Given the description of an element on the screen output the (x, y) to click on. 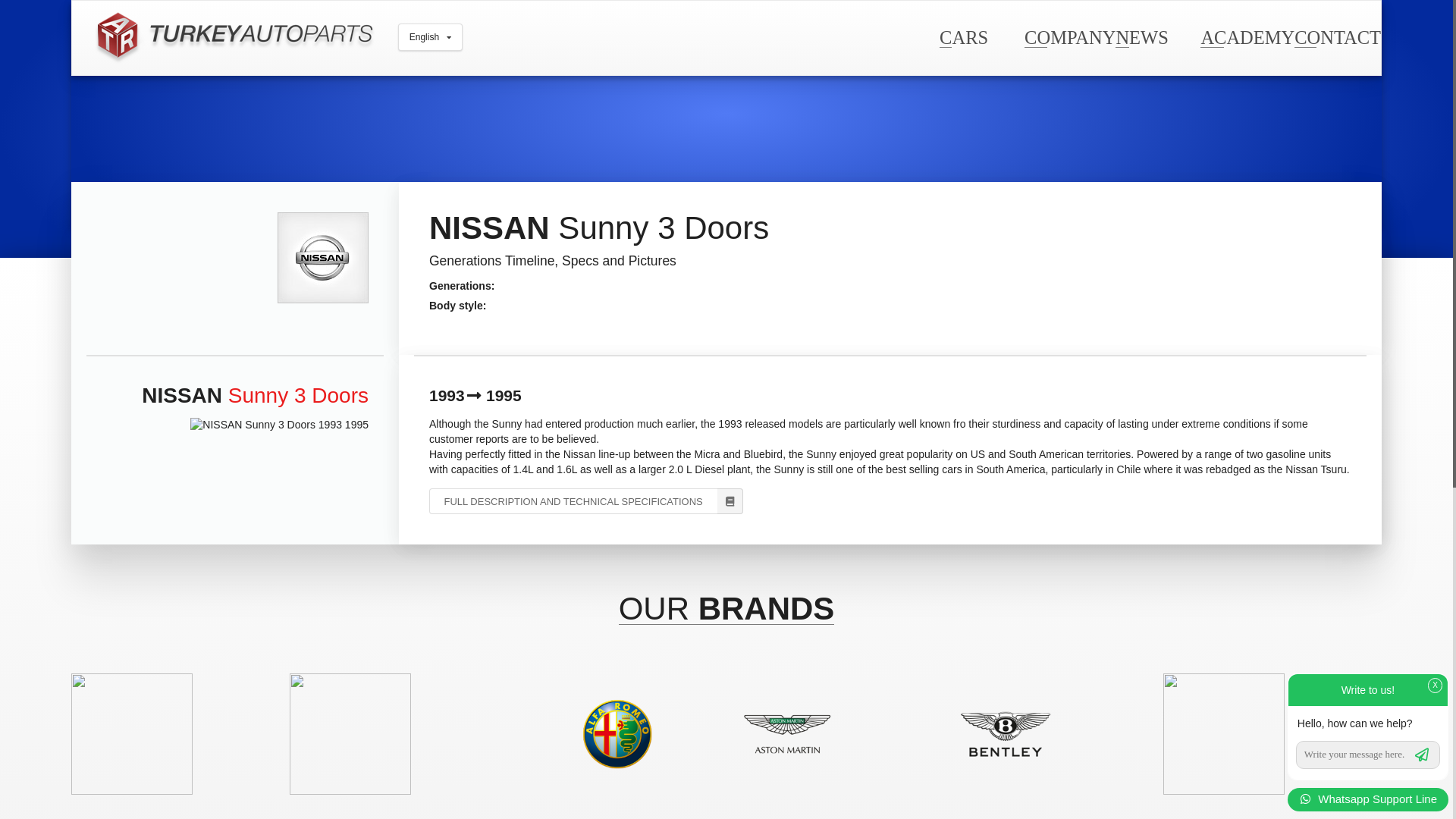
COMPANY (1070, 37)
CONTACT (1337, 37)
FULL DESCRIPTION AND TECHNICAL SPECIFICATIONS (585, 500)
NEWS (1141, 37)
ACADEMY (1246, 37)
CARS (963, 37)
